Given the description of an element on the screen output the (x, y) to click on. 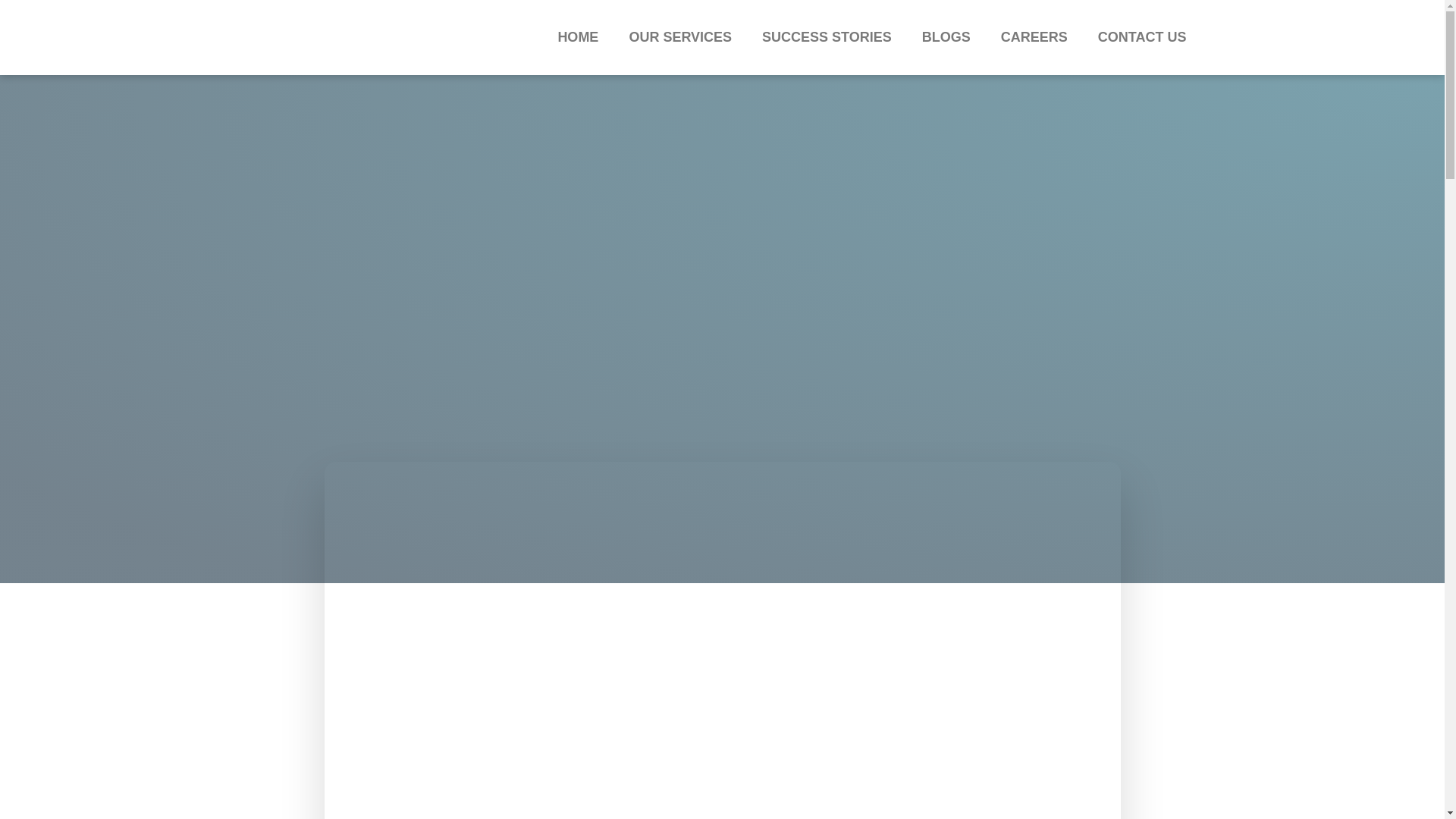
HOME (576, 37)
CAREERS (1034, 37)
BLOGS (946, 37)
SUCCESS STORIES (826, 37)
OUR SERVICES (679, 37)
SUCCESS STORIES (826, 37)
CONTACT US (1142, 37)
